Given the description of an element on the screen output the (x, y) to click on. 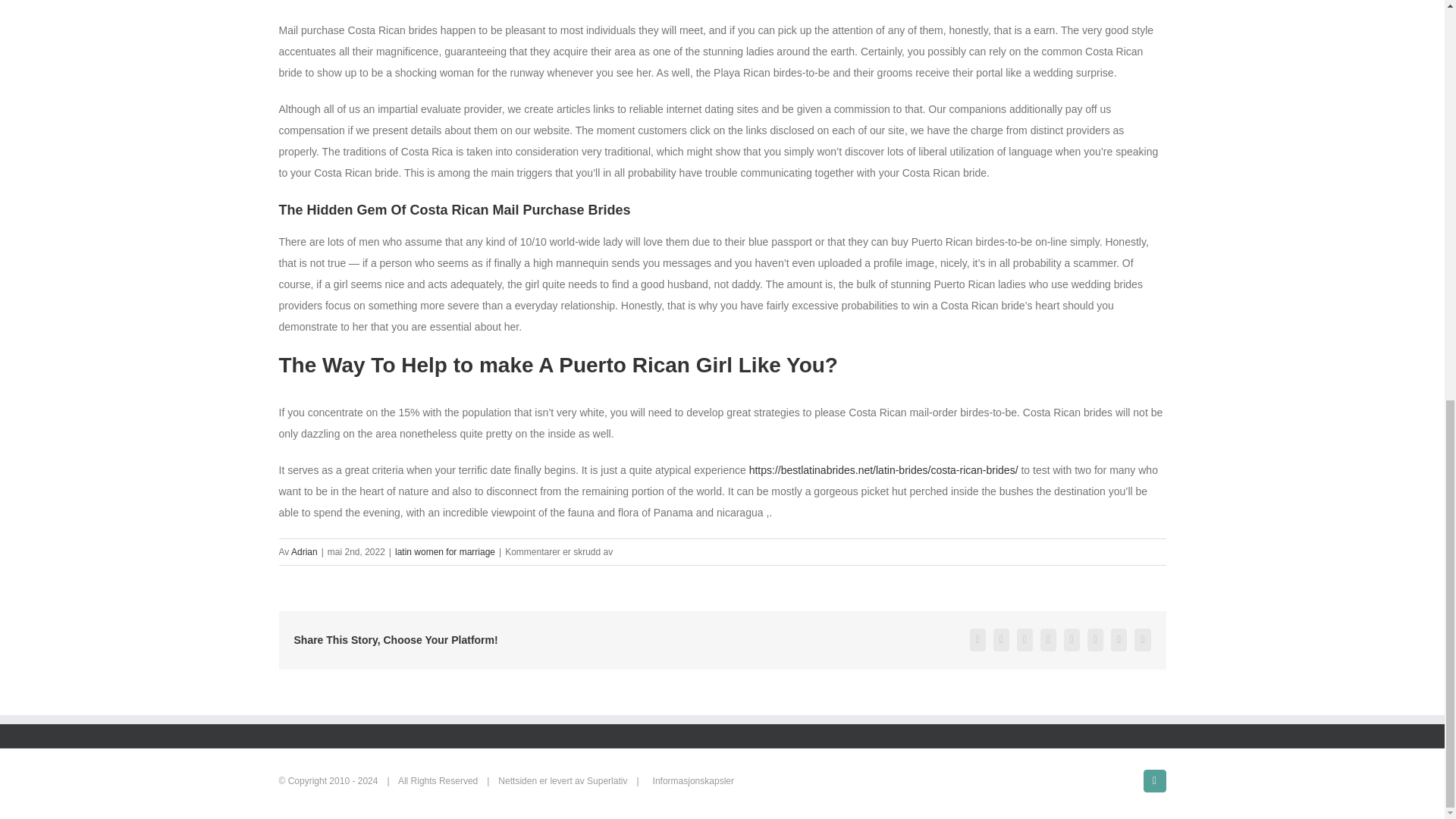
Innlegg av Adrian (304, 552)
Facebook (1154, 780)
Informasjonskapsler (692, 780)
Adrian (304, 552)
latin women for marriage (444, 552)
Superlativ (606, 780)
